Given the description of an element on the screen output the (x, y) to click on. 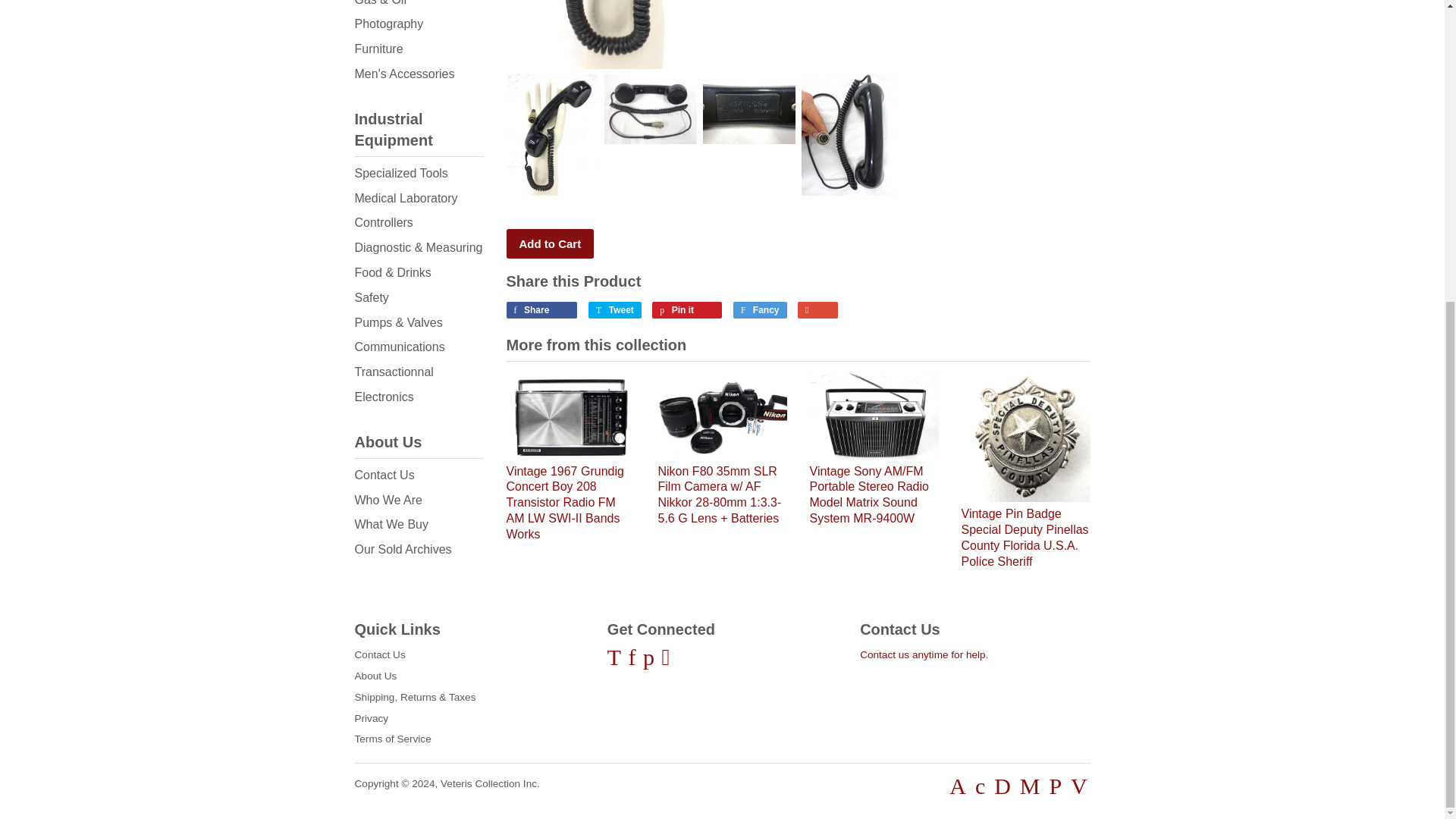
Montreal Collector on Twitter (614, 656)
Montreal Collector on Pinterest (648, 656)
